Given the description of an element on the screen output the (x, y) to click on. 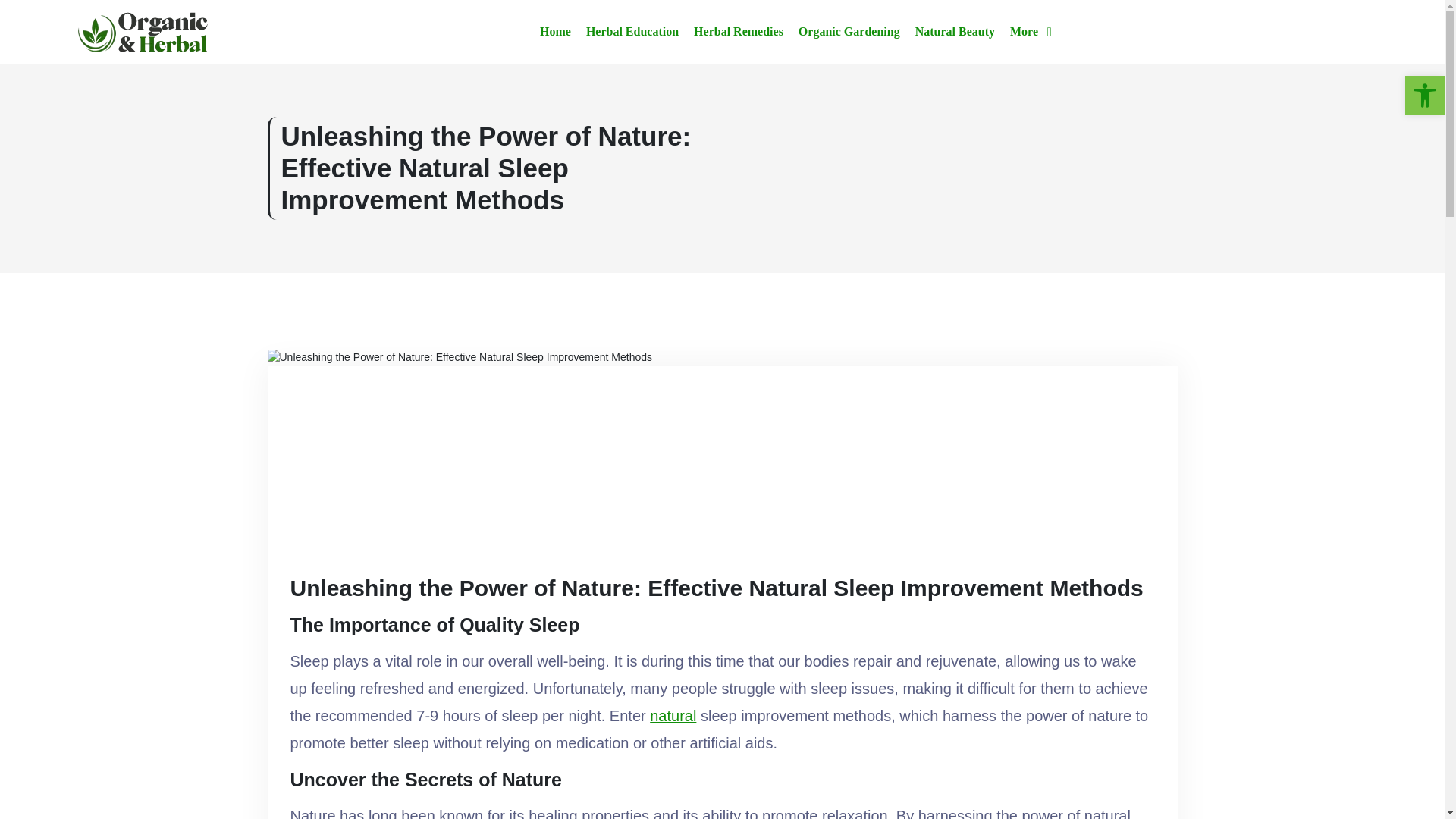
Herbal Education (632, 31)
Herbal Remedies (738, 31)
Natural Beauty (954, 31)
More (1030, 31)
natural (672, 715)
Herbal Remedies (738, 31)
natural (672, 715)
More (1030, 31)
Natural Beauty (954, 31)
Accessibility Tools (1424, 95)
Organic Gardening (848, 31)
Herbal Education (632, 31)
Organic Gardening (848, 31)
Home (555, 31)
Home (555, 31)
